Given the description of an element on the screen output the (x, y) to click on. 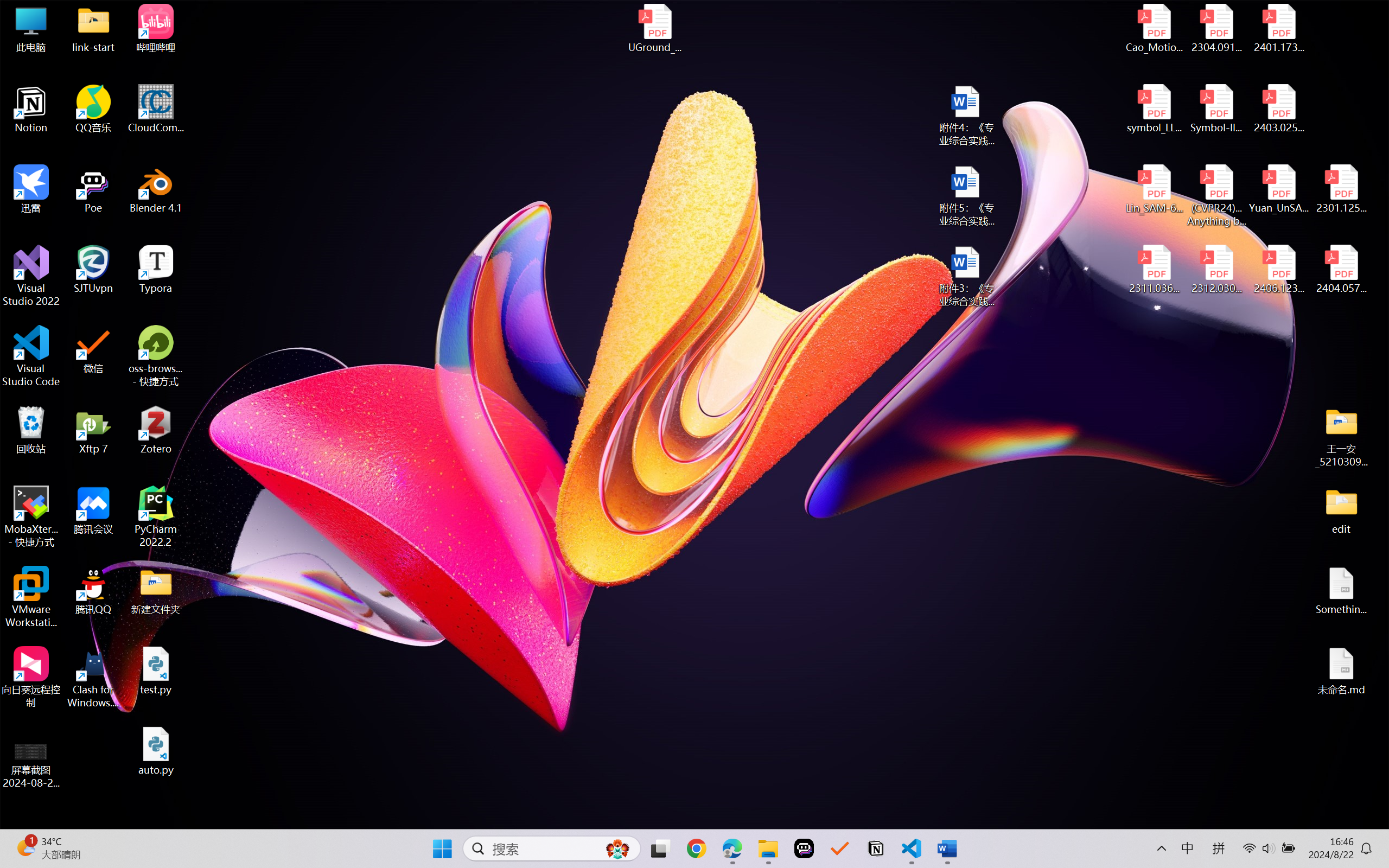
2304.09121v3.pdf (1216, 28)
2311.03658v2.pdf (1154, 269)
2406.12373v2.pdf (1278, 269)
Blender 4.1 (156, 189)
(CVPR24)Matching Anything by Segmenting Anything.pdf (1216, 195)
2404.05719v1.pdf (1340, 269)
